Given the description of an element on the screen output the (x, y) to click on. 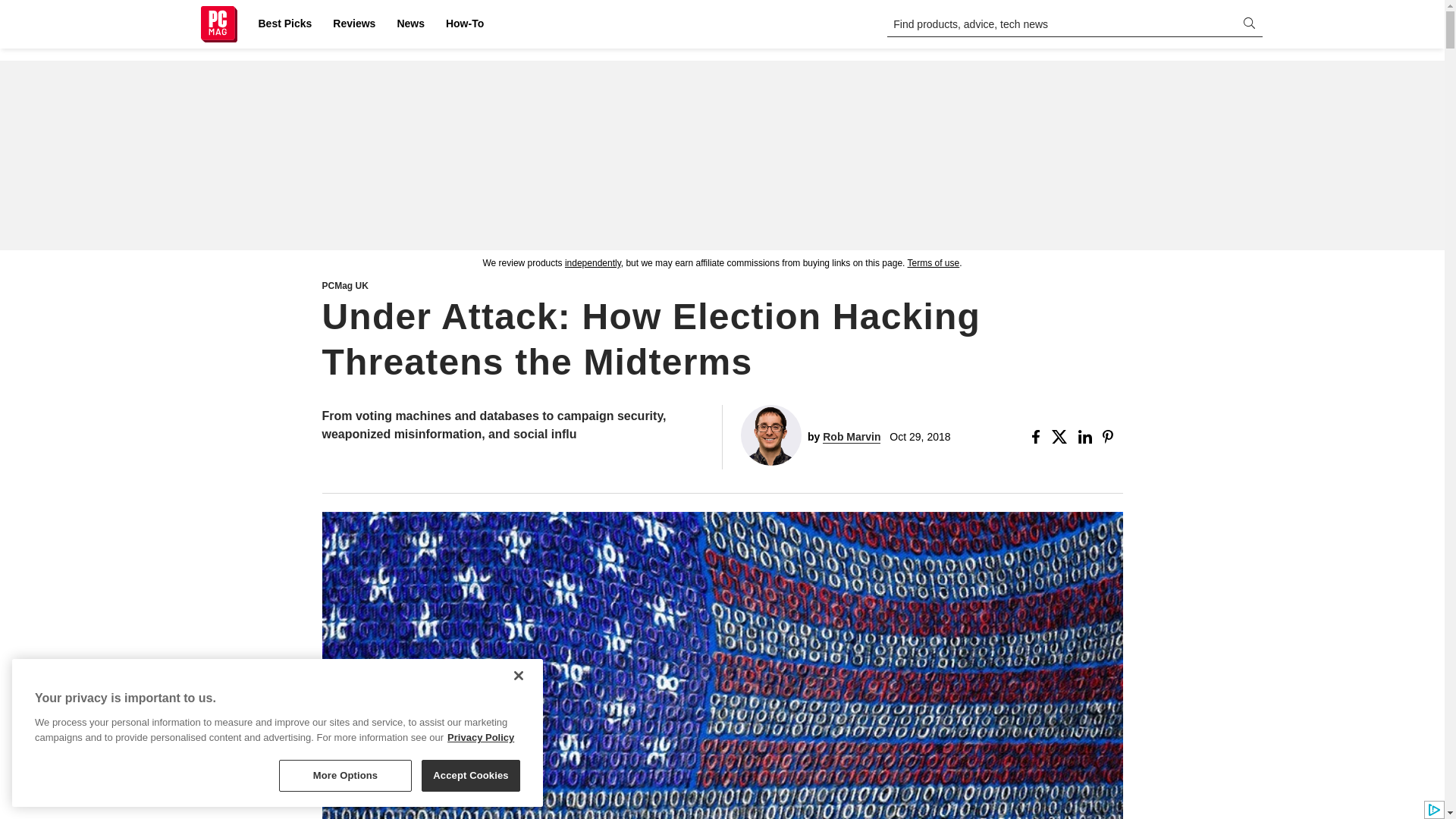
Share this Story on Facebook (1038, 436)
Share this Story on Pinterest (1112, 436)
3rd party ad content (721, 155)
Share this Story on X (1061, 436)
Best Picks (284, 24)
Share this Story on Linkedin (1087, 436)
